Given the description of an element on the screen output the (x, y) to click on. 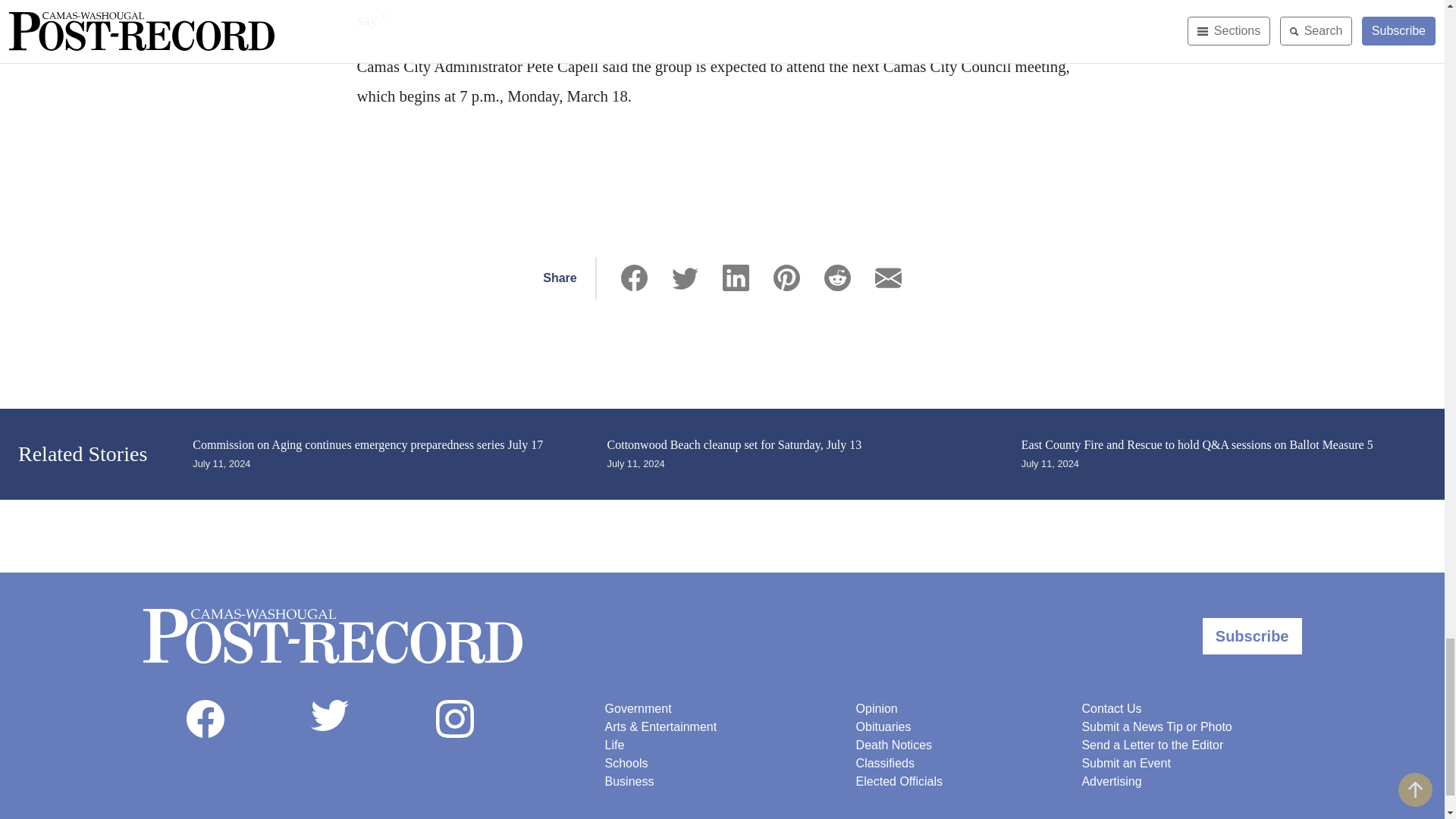
Share on Reddit (837, 277)
Share on Facebook (634, 277)
Share on Email (888, 277)
Share on Pinterest (786, 277)
Share on LinkedIn (735, 277)
Share on Twitter (684, 277)
